Given the description of an element on the screen output the (x, y) to click on. 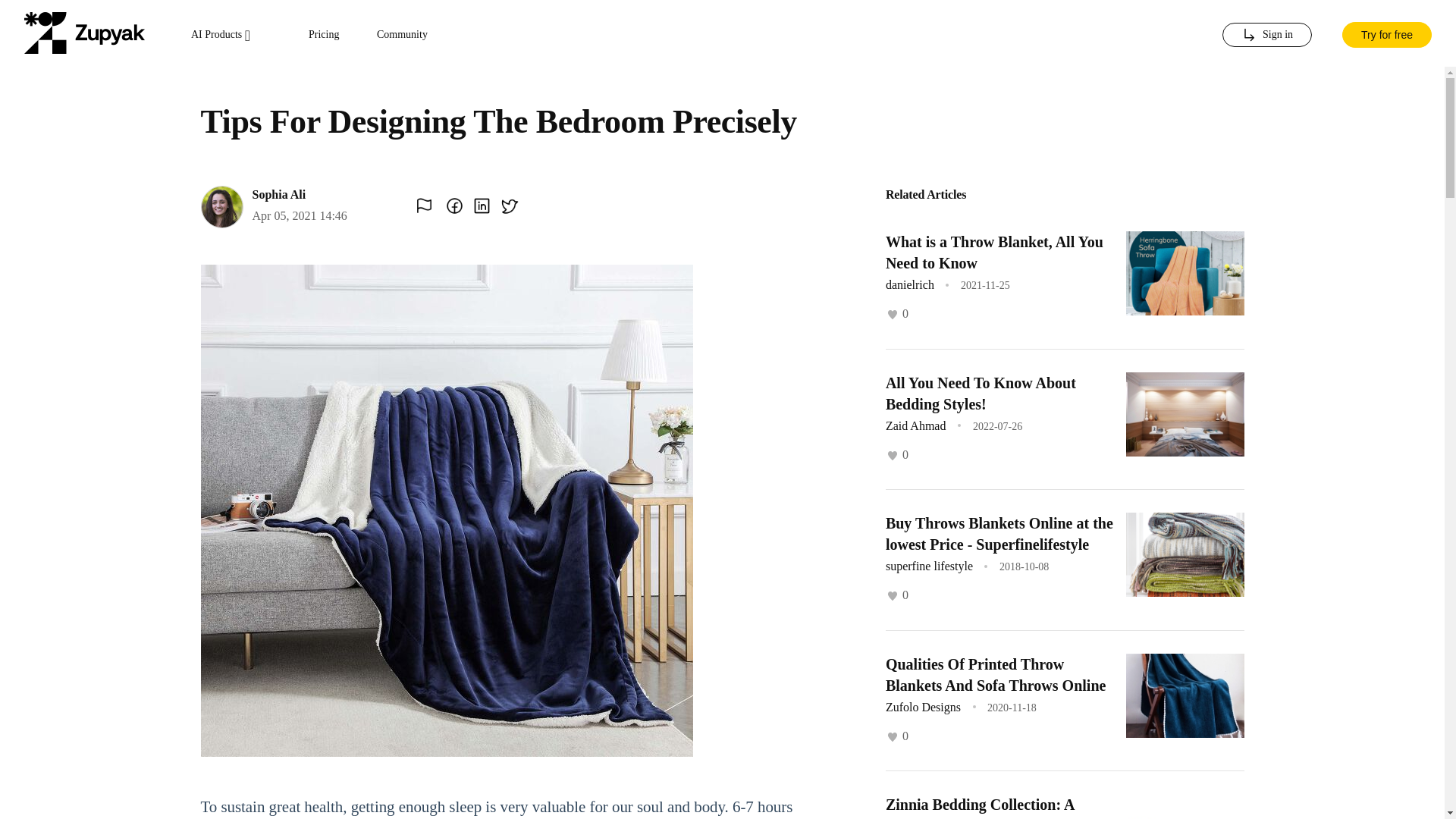
 Sign in (1267, 34)
Pricing (323, 34)
What is a Throw Blanket, All You Need to Know (994, 252)
All You Need To Know About Bedding Styles! (980, 393)
Community (402, 34)
Qualities Of Printed Throw Blankets And Sofa Throws Online (995, 673)
What is a Throw Blanket, All You Need to Know (994, 252)
Try for free (1386, 33)
